Given the description of an element on the screen output the (x, y) to click on. 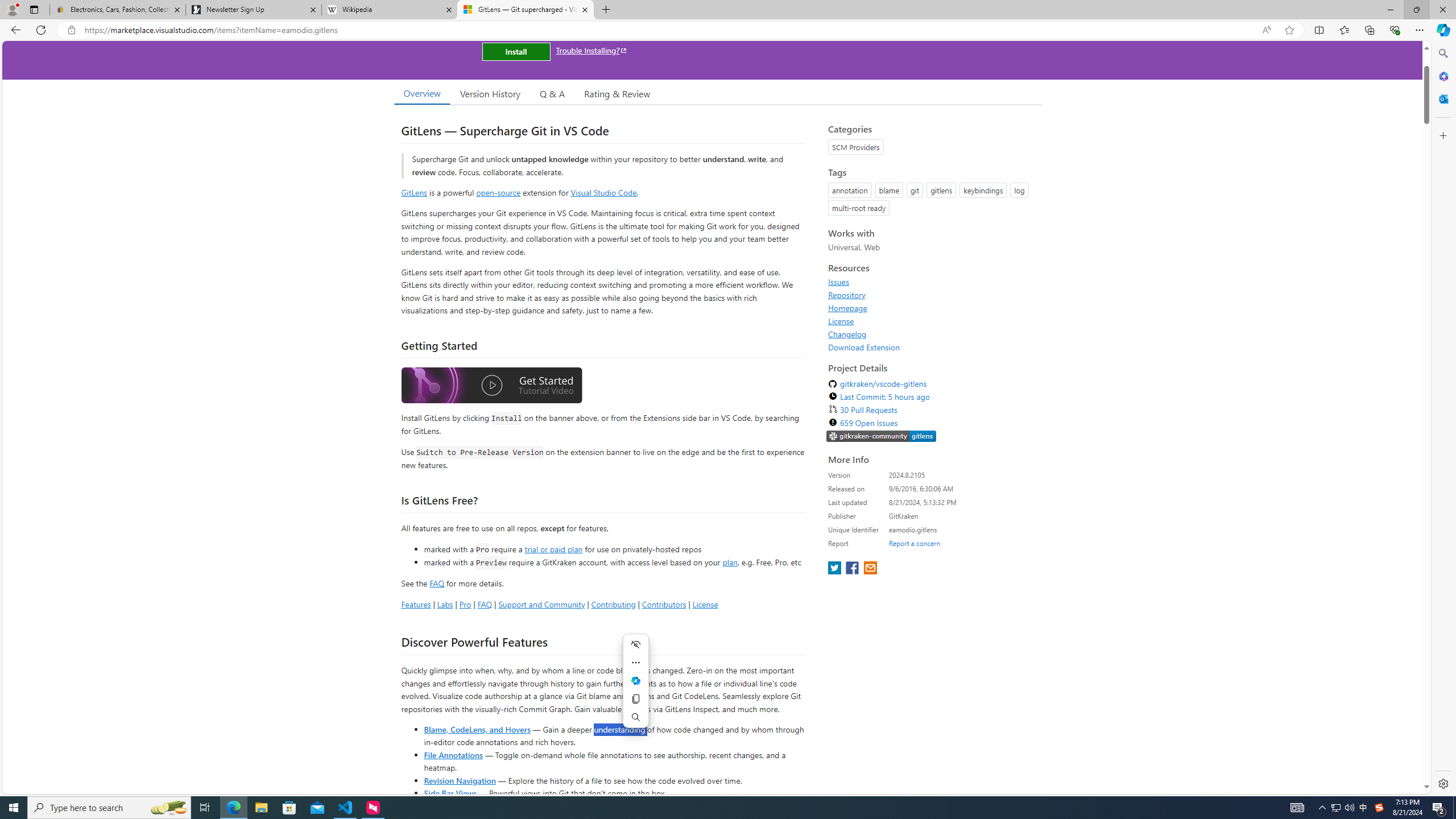
Repository (847, 294)
Issues (838, 281)
Revision Navigation (459, 780)
Rating & Review (618, 92)
License (840, 320)
Blame, CodeLens, and Hovers (476, 728)
plan (730, 562)
Hide menu (635, 644)
Visual Studio Code (603, 192)
